Given the description of an element on the screen output the (x, y) to click on. 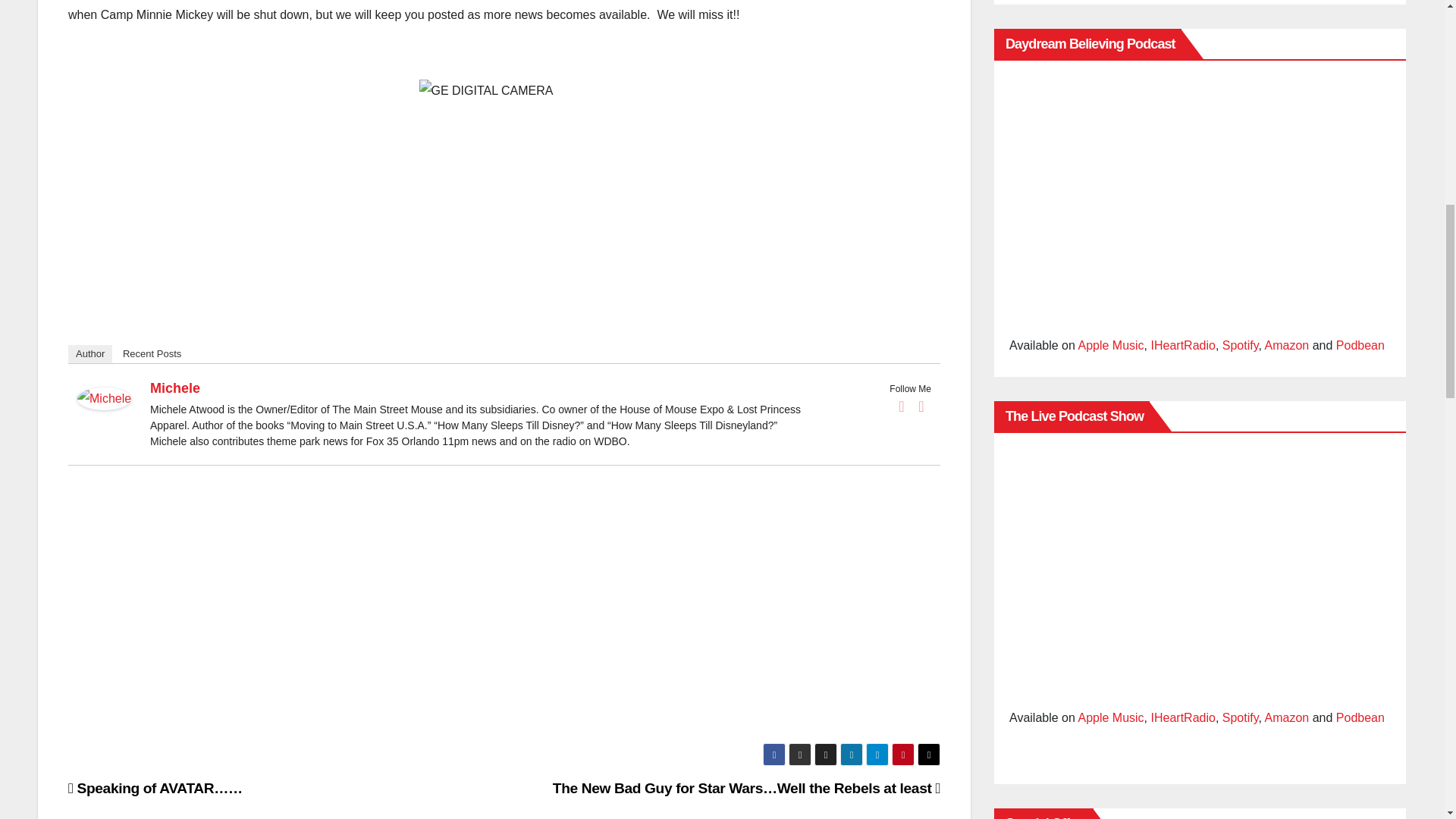
Michele (174, 387)
Recent Posts (152, 353)
Author (90, 353)
